Given the description of an element on the screen output the (x, y) to click on. 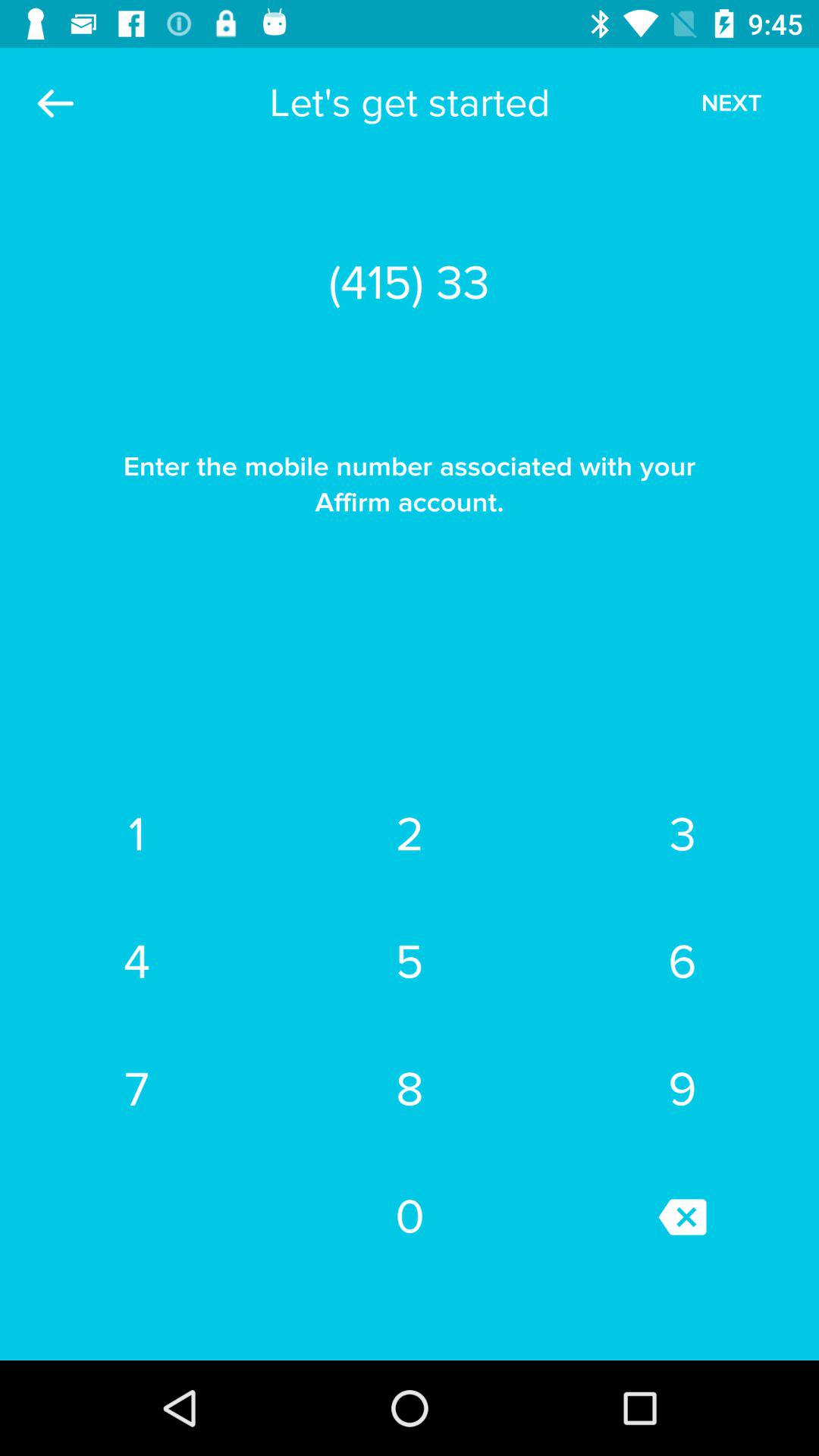
click item next to let s get item (731, 103)
